Given the description of an element on the screen output the (x, y) to click on. 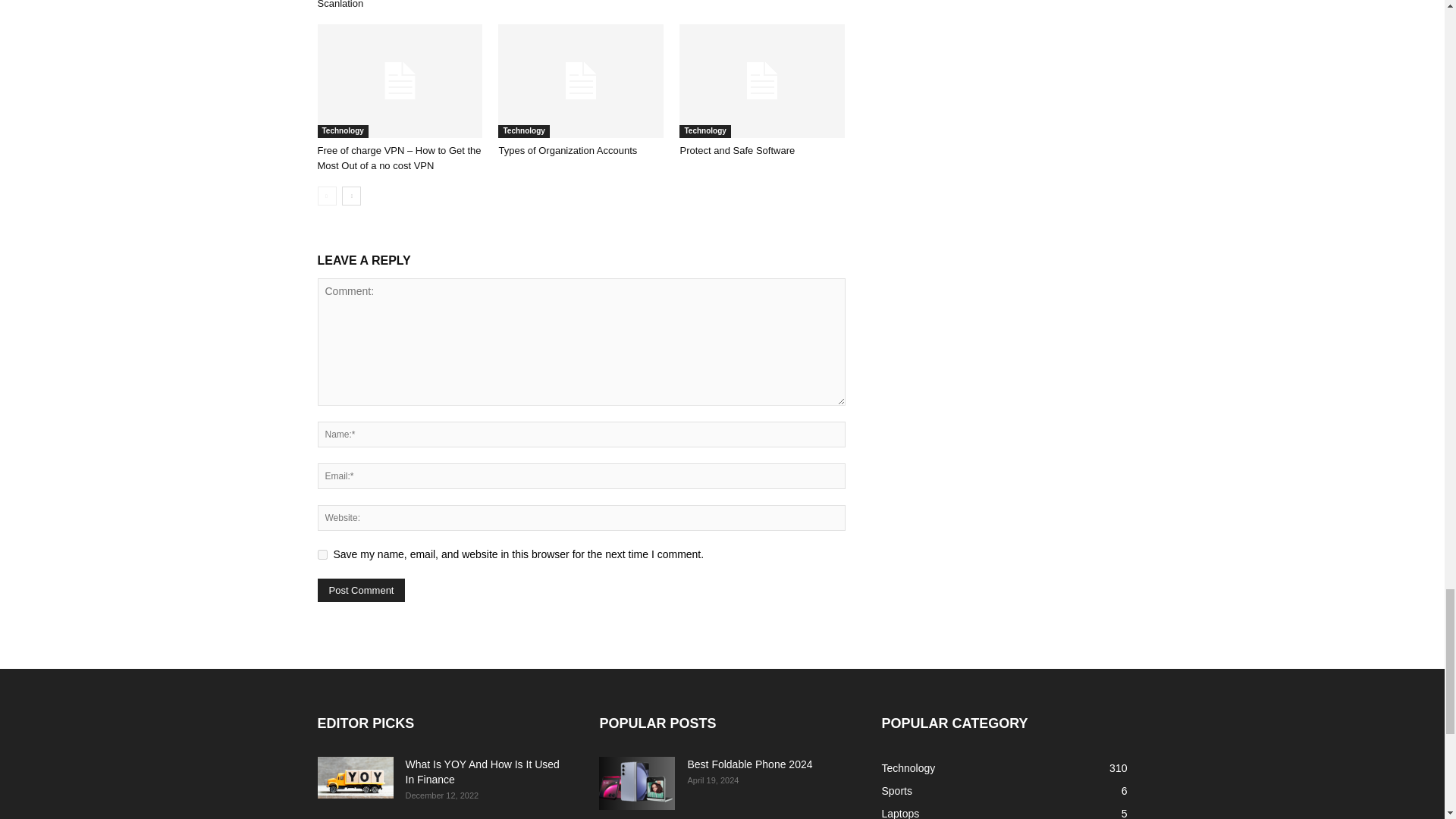
yes (321, 554)
Post Comment (360, 589)
